Given the description of an element on the screen output the (x, y) to click on. 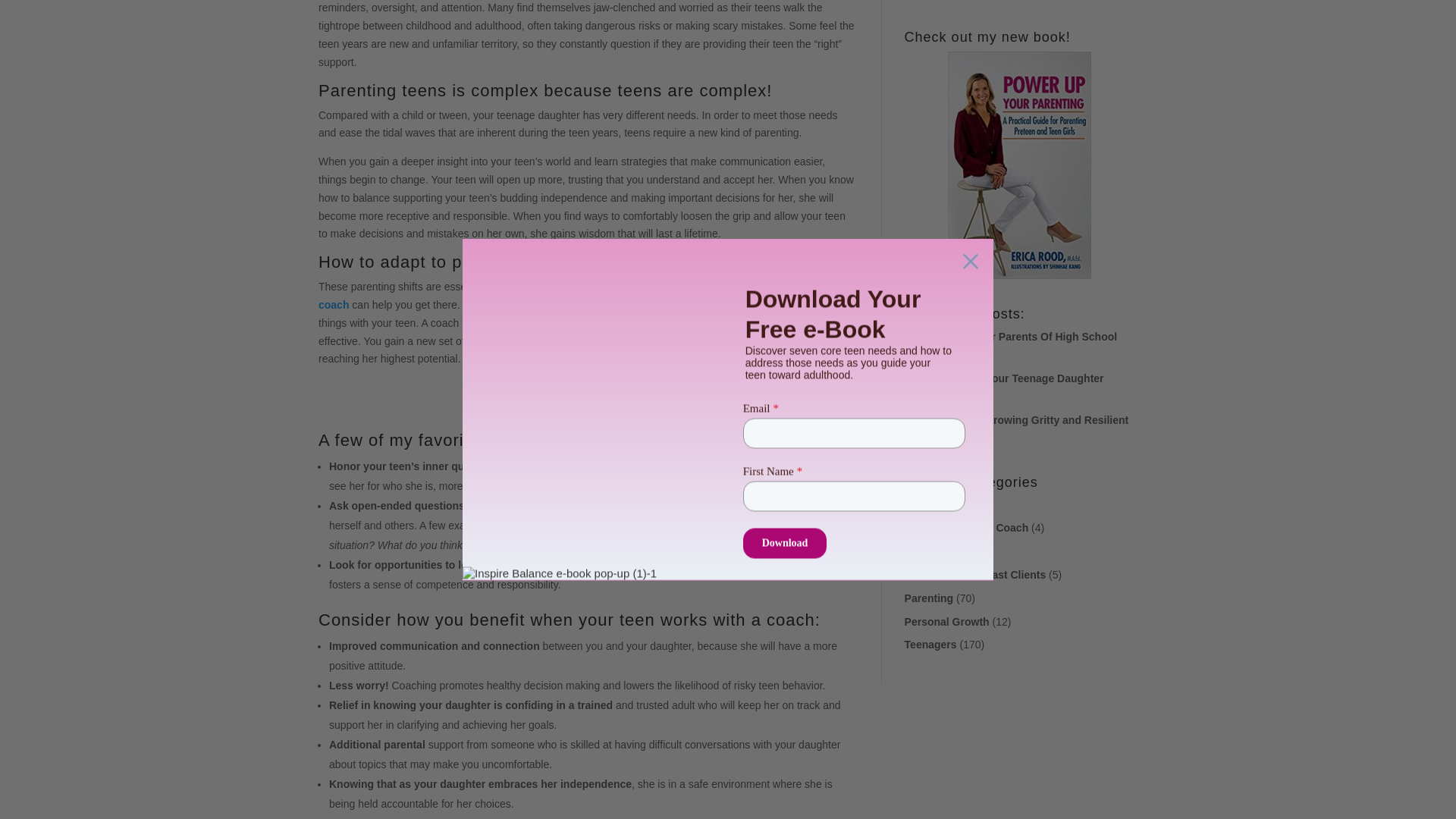
Form 0 (1020, 4)
